Given the description of an element on the screen output the (x, y) to click on. 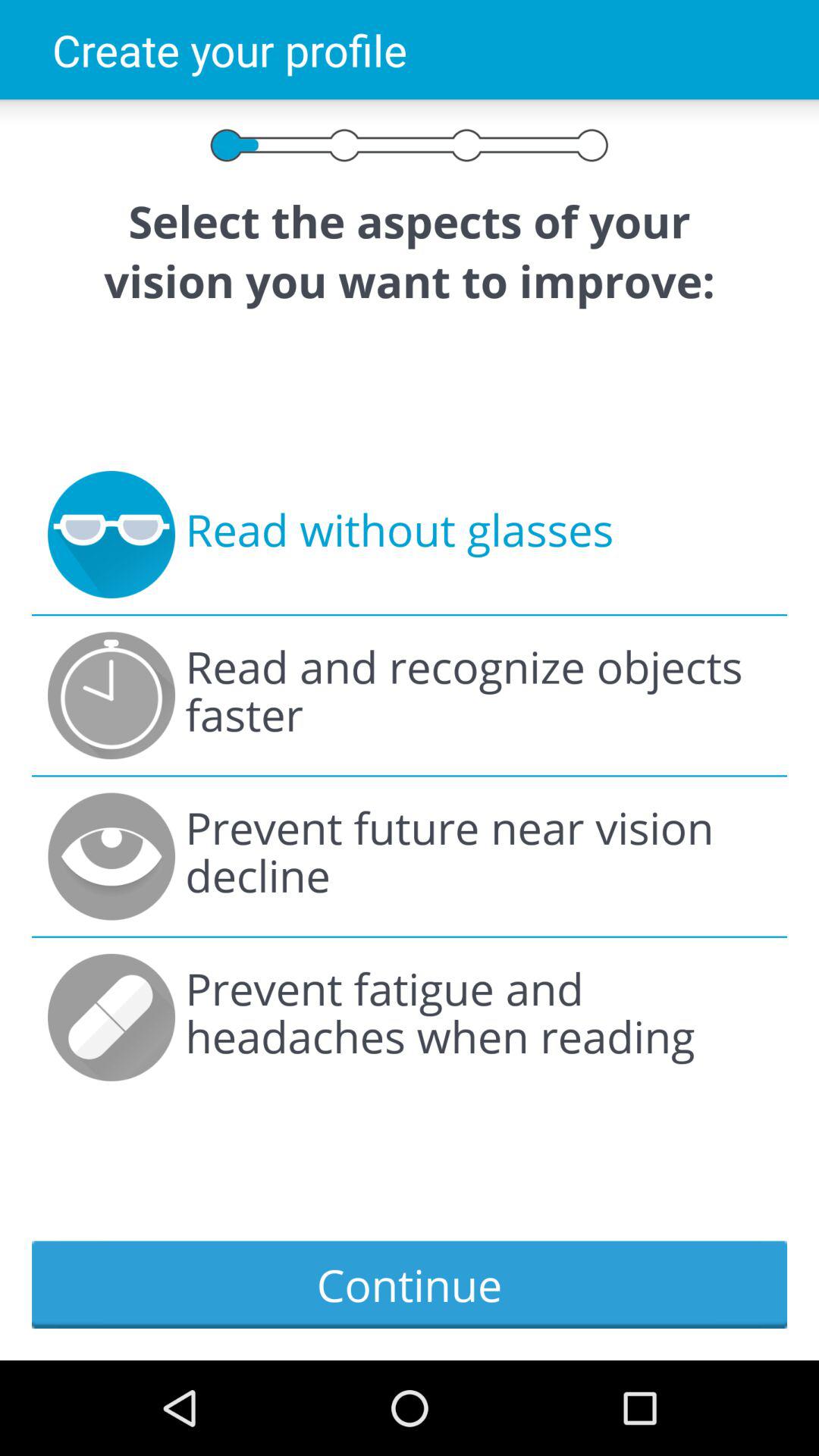
turn off the icon above continue item (478, 1017)
